Given the description of an element on the screen output the (x, y) to click on. 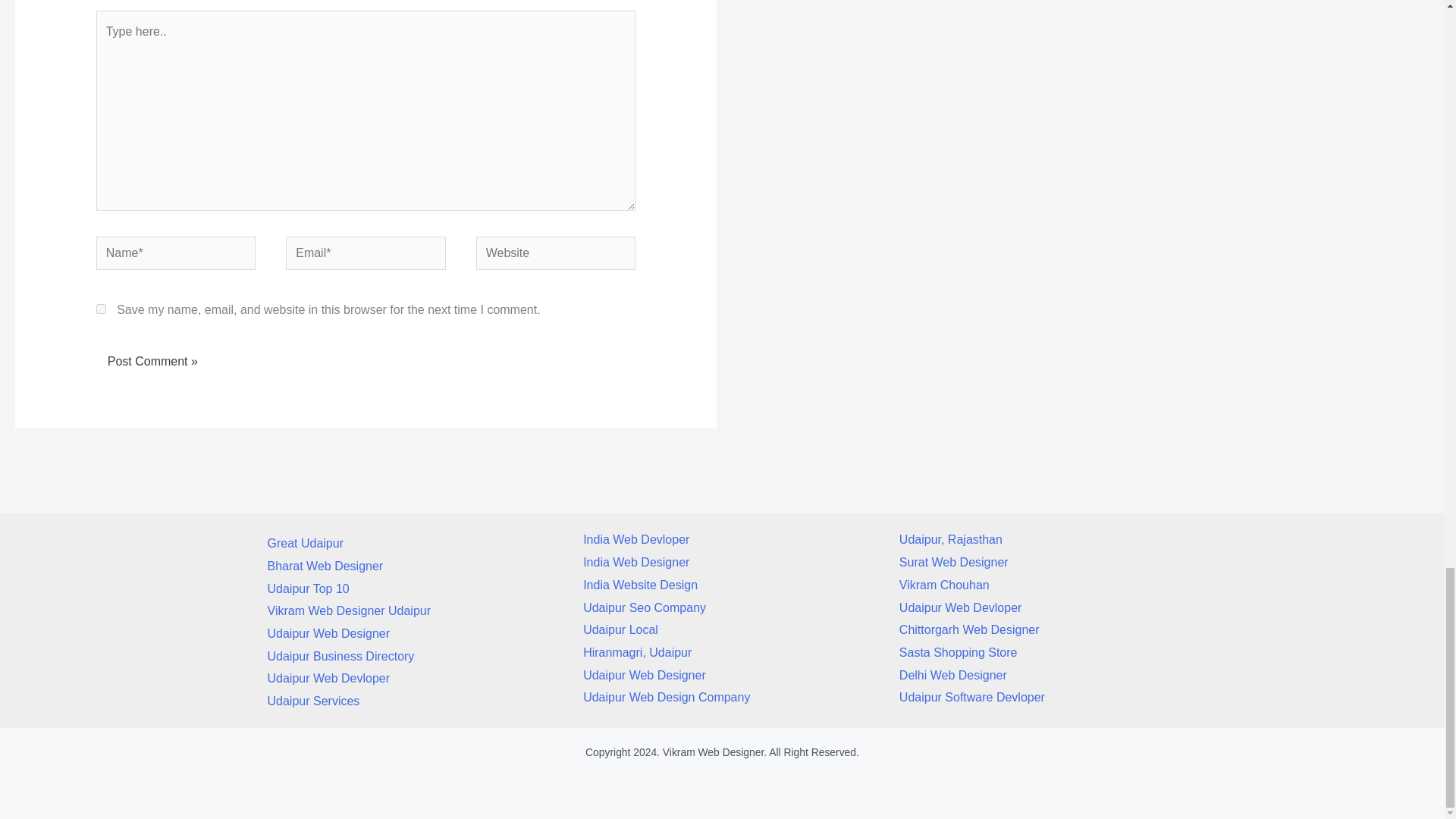
Great Udaipur (304, 543)
yes (101, 308)
Vikram Web Designer Udaipur (348, 610)
Udaipur Top 10 (307, 588)
Bharat Web Designer (324, 565)
Udaipur Web Designer (328, 633)
